Given the description of an element on the screen output the (x, y) to click on. 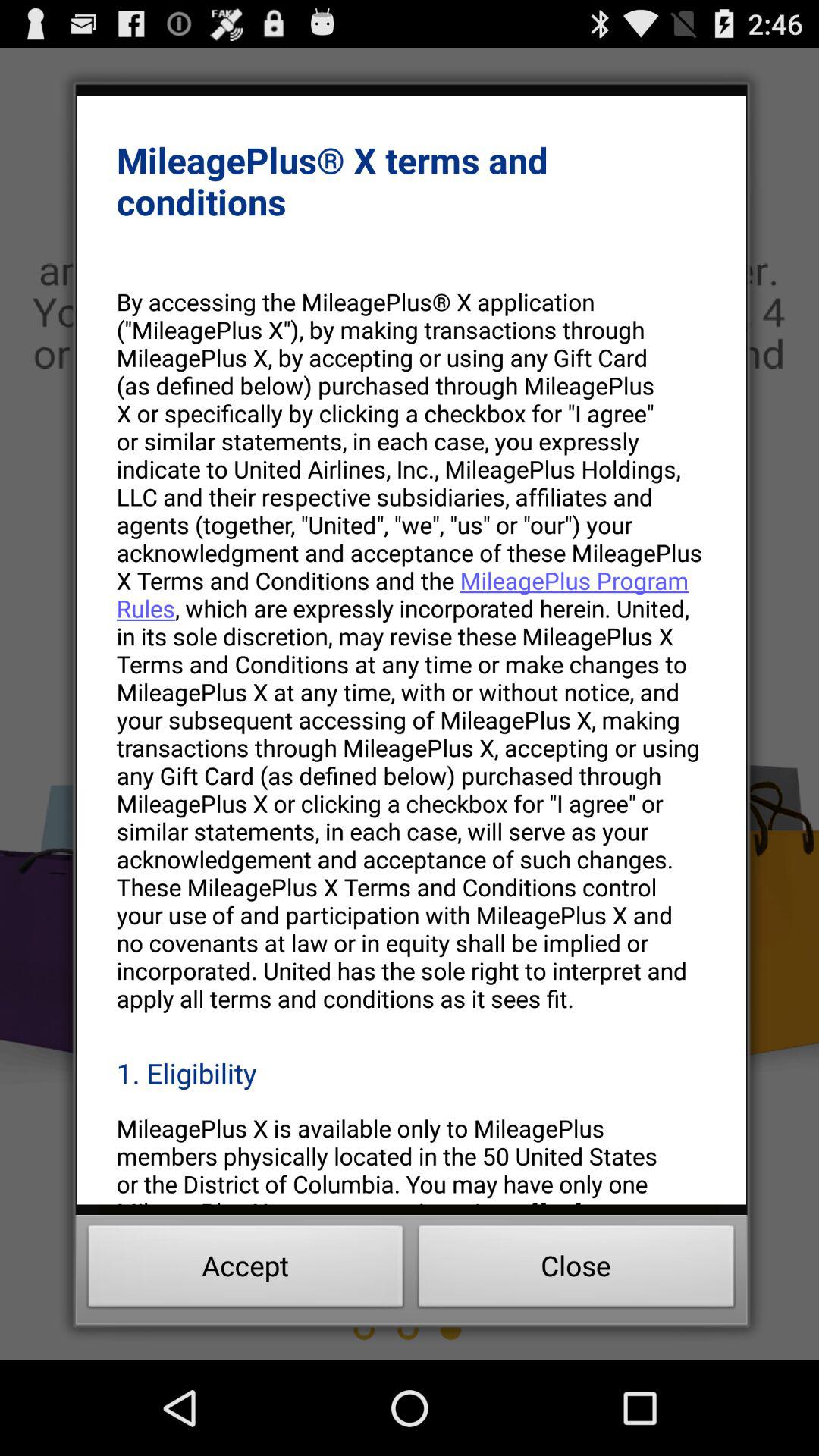
tap close at the bottom right corner (576, 1270)
